Given the description of an element on the screen output the (x, y) to click on. 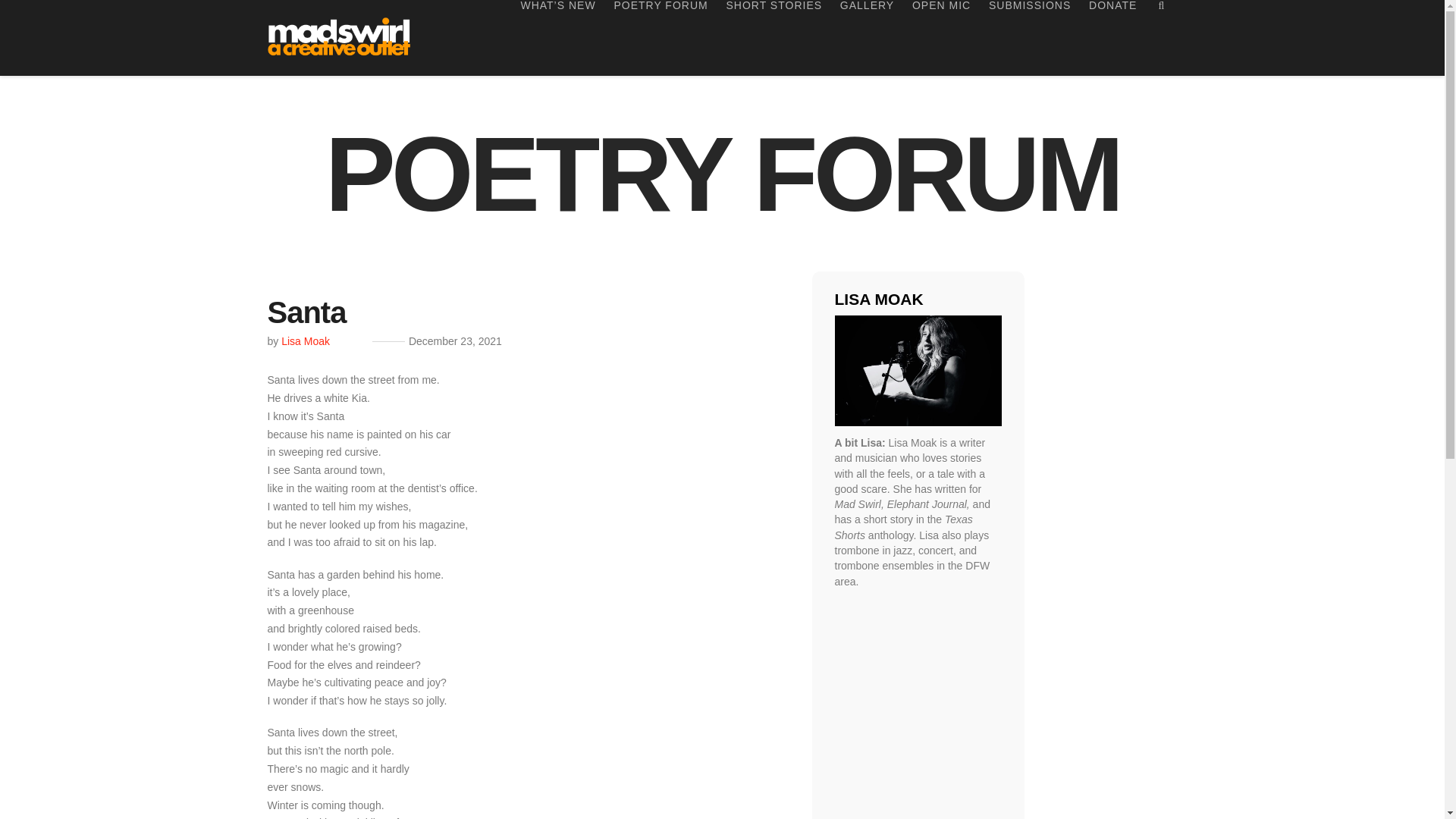
POETRY FORUM (721, 173)
Lisa Moak (305, 340)
SHORT STORIES (774, 38)
GALLERY (866, 38)
SUBMISSIONS (1029, 38)
Posts by Lisa Moak (305, 340)
Poetry (721, 173)
POETRY FORUM (661, 38)
OPEN MIC (940, 38)
The whole mad swirl of everything to come begins now! (340, 31)
